Given the description of an element on the screen output the (x, y) to click on. 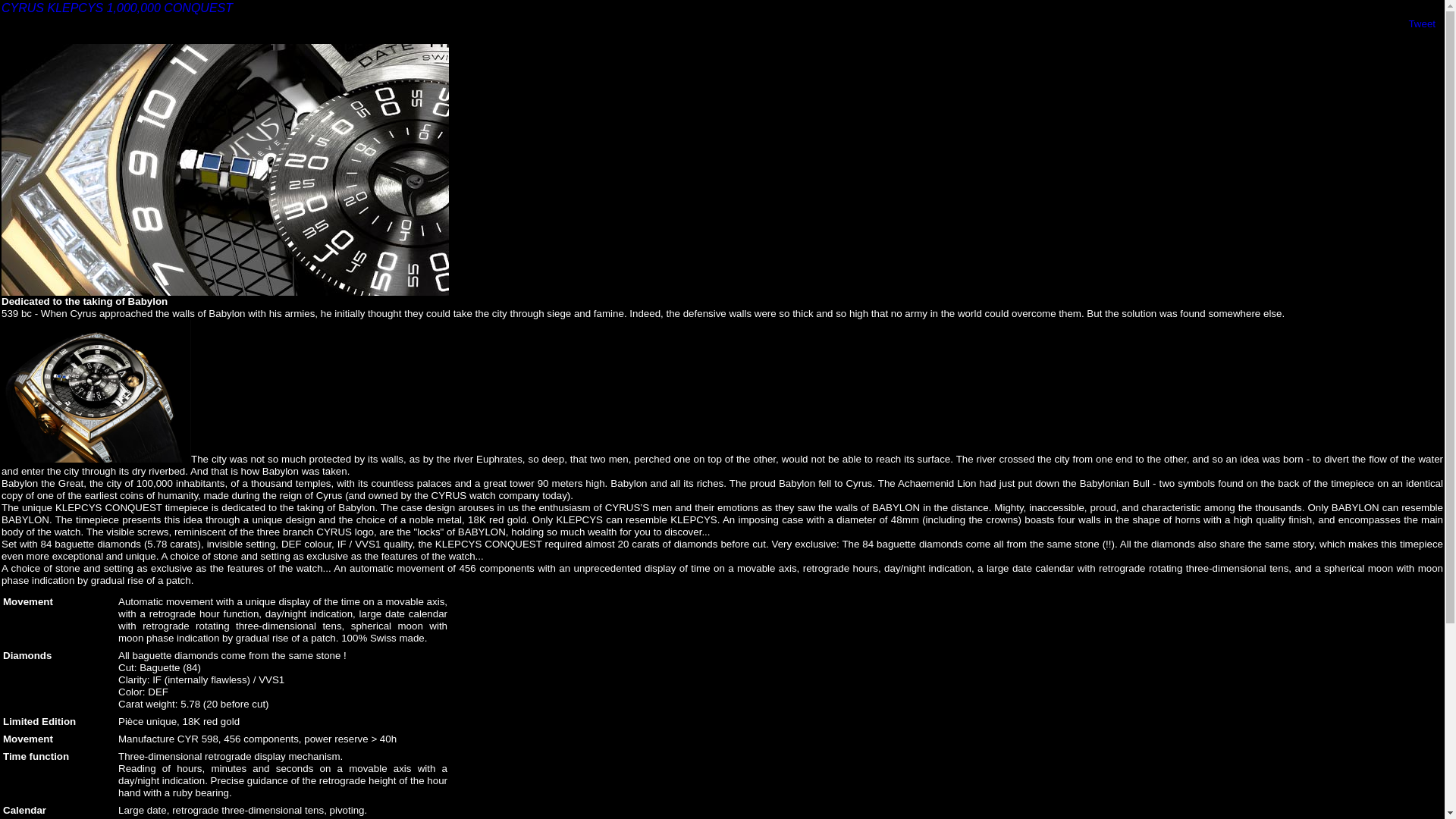
CYRUS KLEPCYS 1,000,000 CONQUEST Element type: text (116, 7)
Tweet Element type: text (1421, 23)
CYRUS - KLEPCYS 1,000,000 CONQUEST Element type: hover (96, 458)
CYRUS - KLEPCYS 1,000,000 CONQUEST Element type: hover (224, 292)
